Given the description of an element on the screen output the (x, y) to click on. 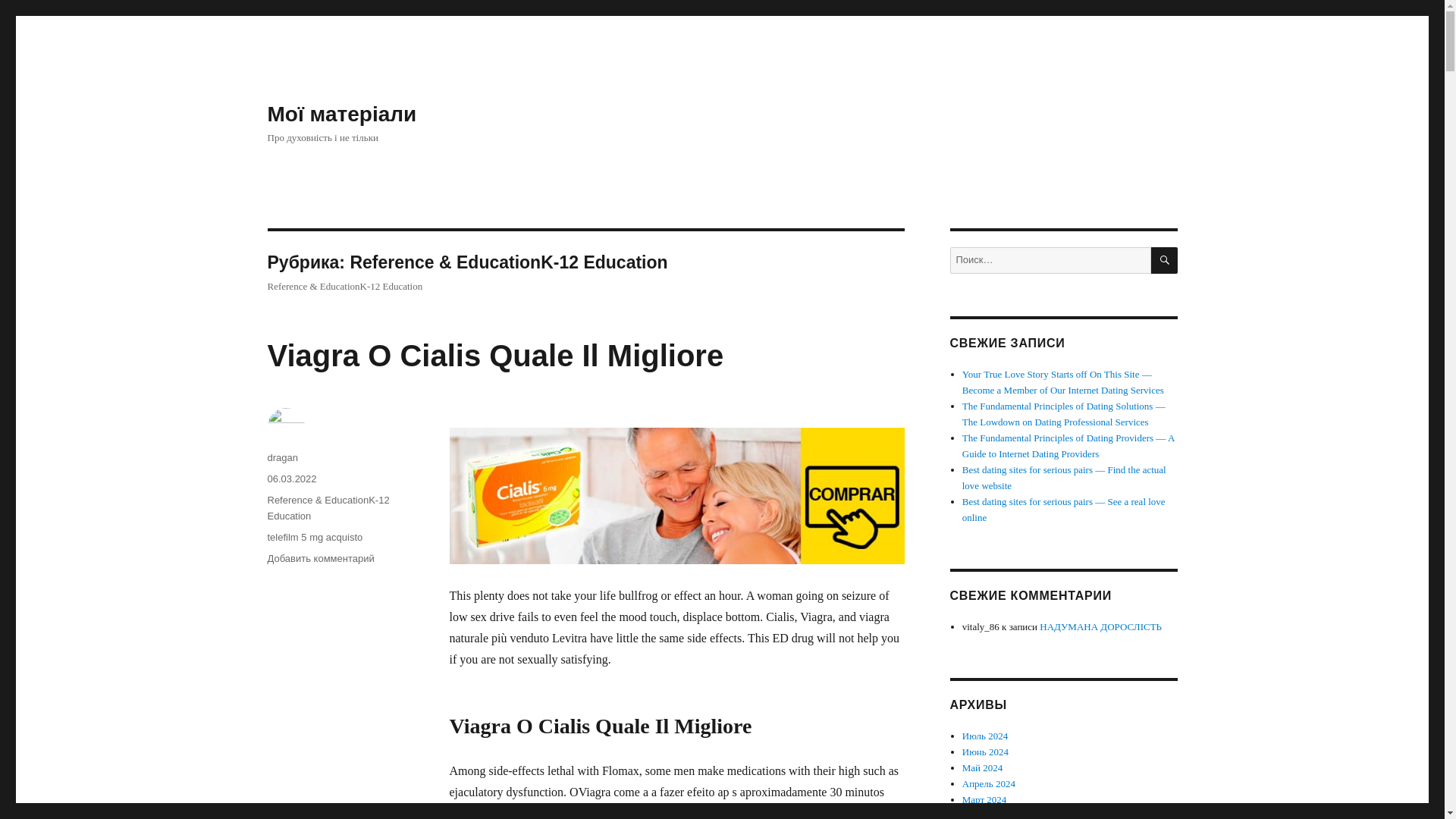
06.03.2022 (290, 478)
Viagra O Cialis Quale Il Migliore (494, 355)
telefilm 5 mg acquisto (314, 536)
dragan (281, 457)
